Given the description of an element on the screen output the (x, y) to click on. 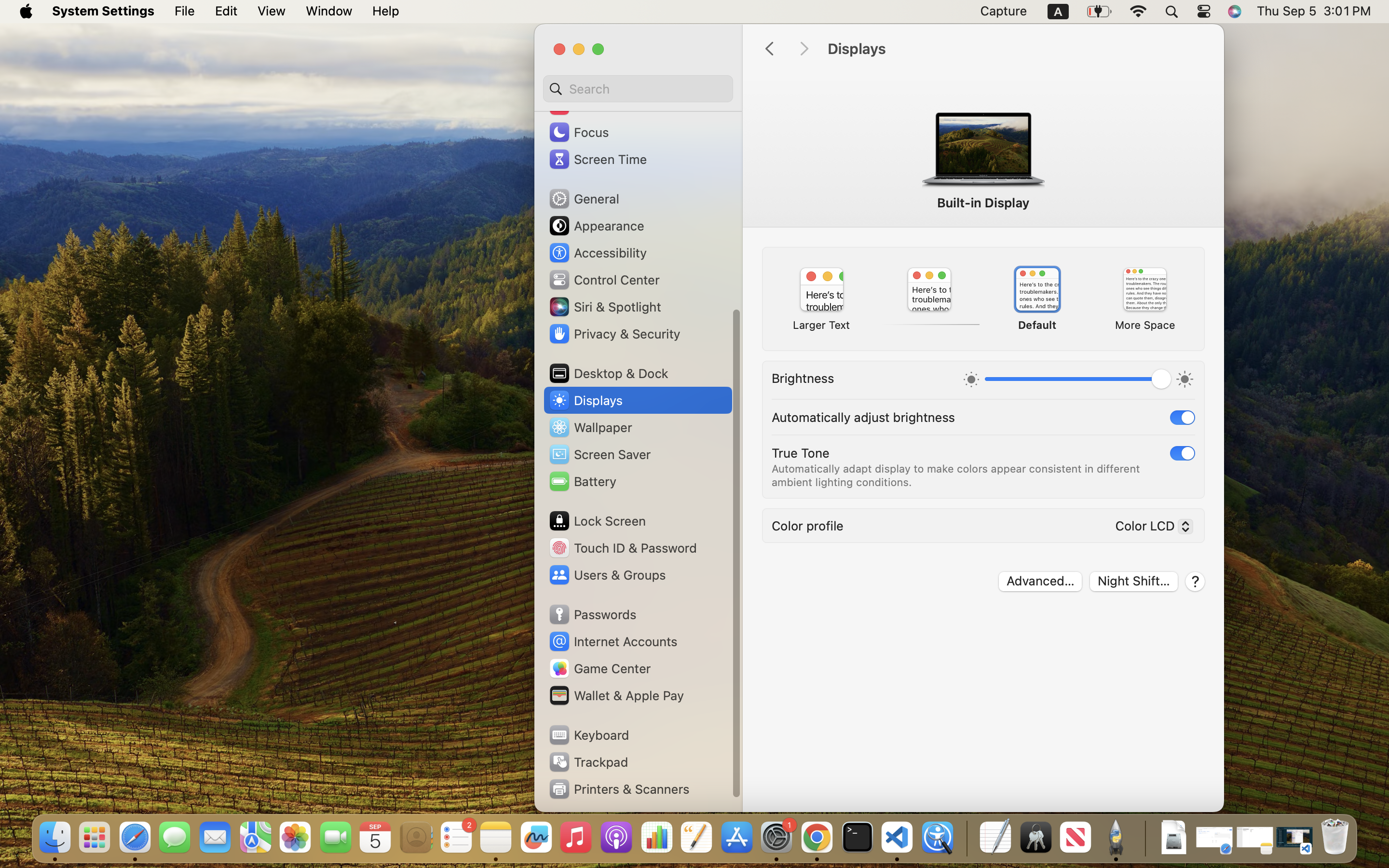
Automatically adapt display to make colors appear consistent in different ambient lighting conditions. Element type: AXStaticText (957, 474)
Battery Element type: AXStaticText (581, 480)
Keyboard Element type: AXStaticText (587, 734)
General Element type: AXStaticText (583, 198)
Printers & Scanners Element type: AXStaticText (618, 788)
